Given the description of an element on the screen output the (x, y) to click on. 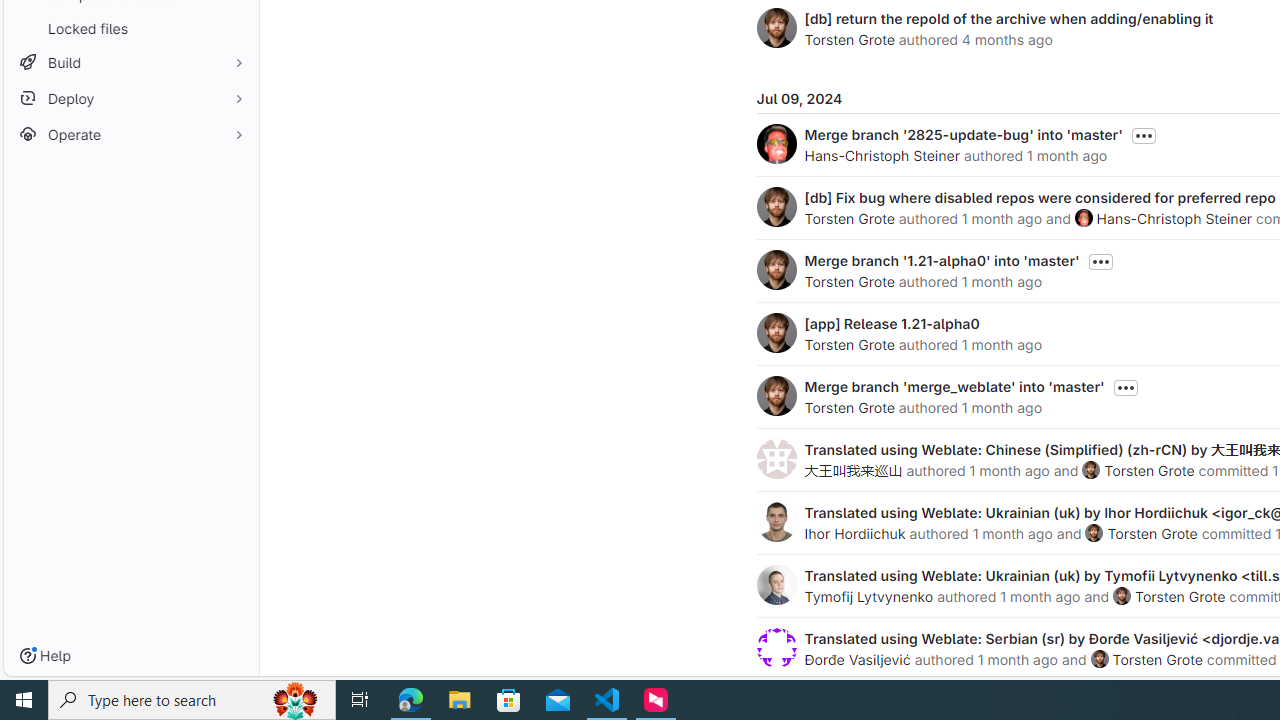
Operate (130, 134)
Task View (359, 699)
Merge branch '2825-update-bug' into 'master' (962, 134)
Class: s16 gl-icon gl-button-icon  (1125, 388)
Start (24, 699)
Tymofij Lytvynenko (868, 596)
File Explorer (460, 699)
Torsten Grote's avatar (1099, 659)
Search highlights icon opens search home window (295, 699)
